Given the description of an element on the screen output the (x, y) to click on. 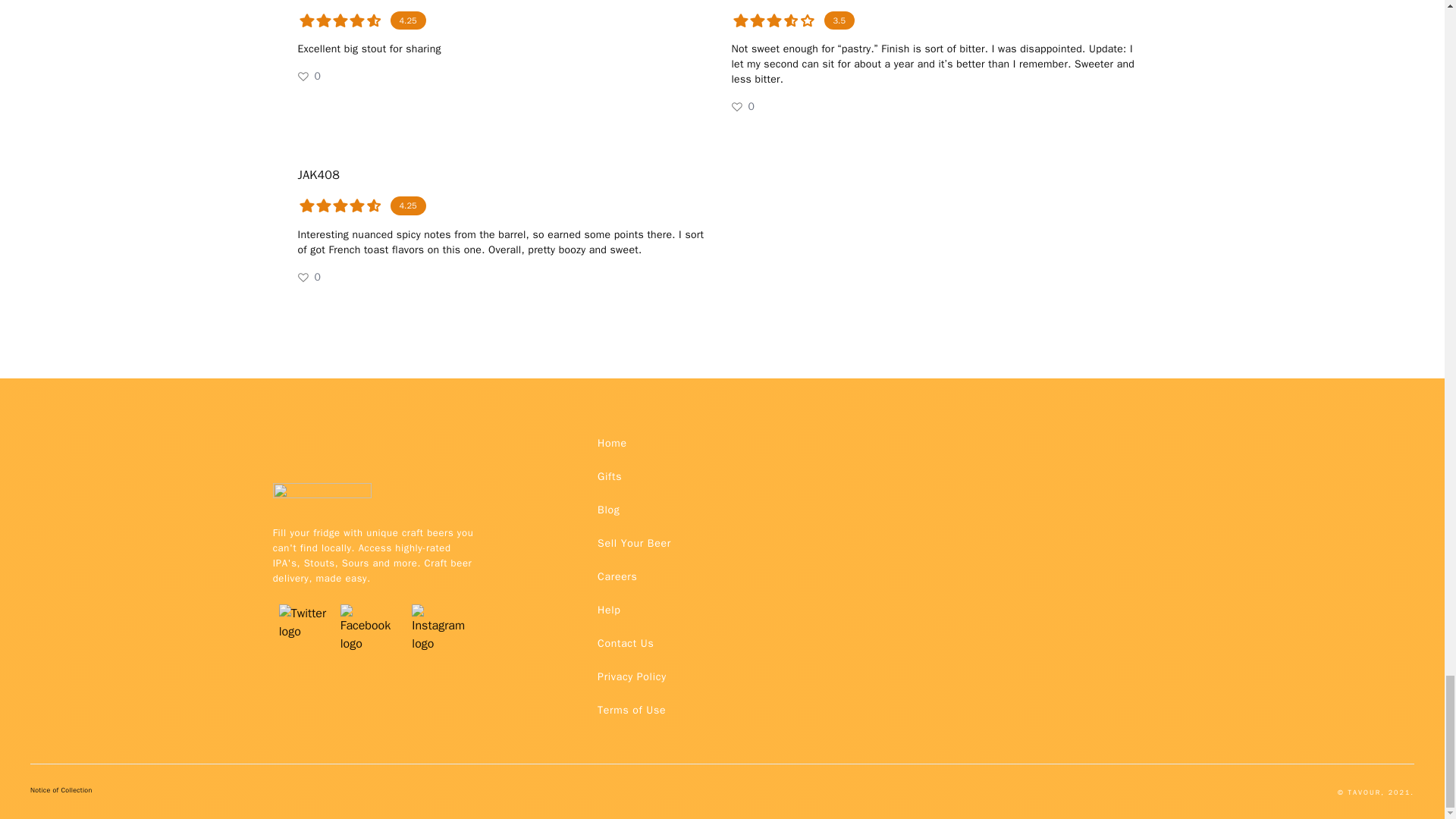
Home (612, 442)
sell your beer (633, 542)
Help (608, 609)
Instagram (442, 603)
FAQ (631, 676)
blog (608, 509)
Blog (608, 509)
Gifts (609, 476)
Contact Us (625, 643)
Careers (617, 575)
home (612, 442)
Facebook (370, 603)
Sell Your Beer (633, 542)
FAQ (631, 709)
Notice of Collection (61, 792)
